Given the description of an element on the screen output the (x, y) to click on. 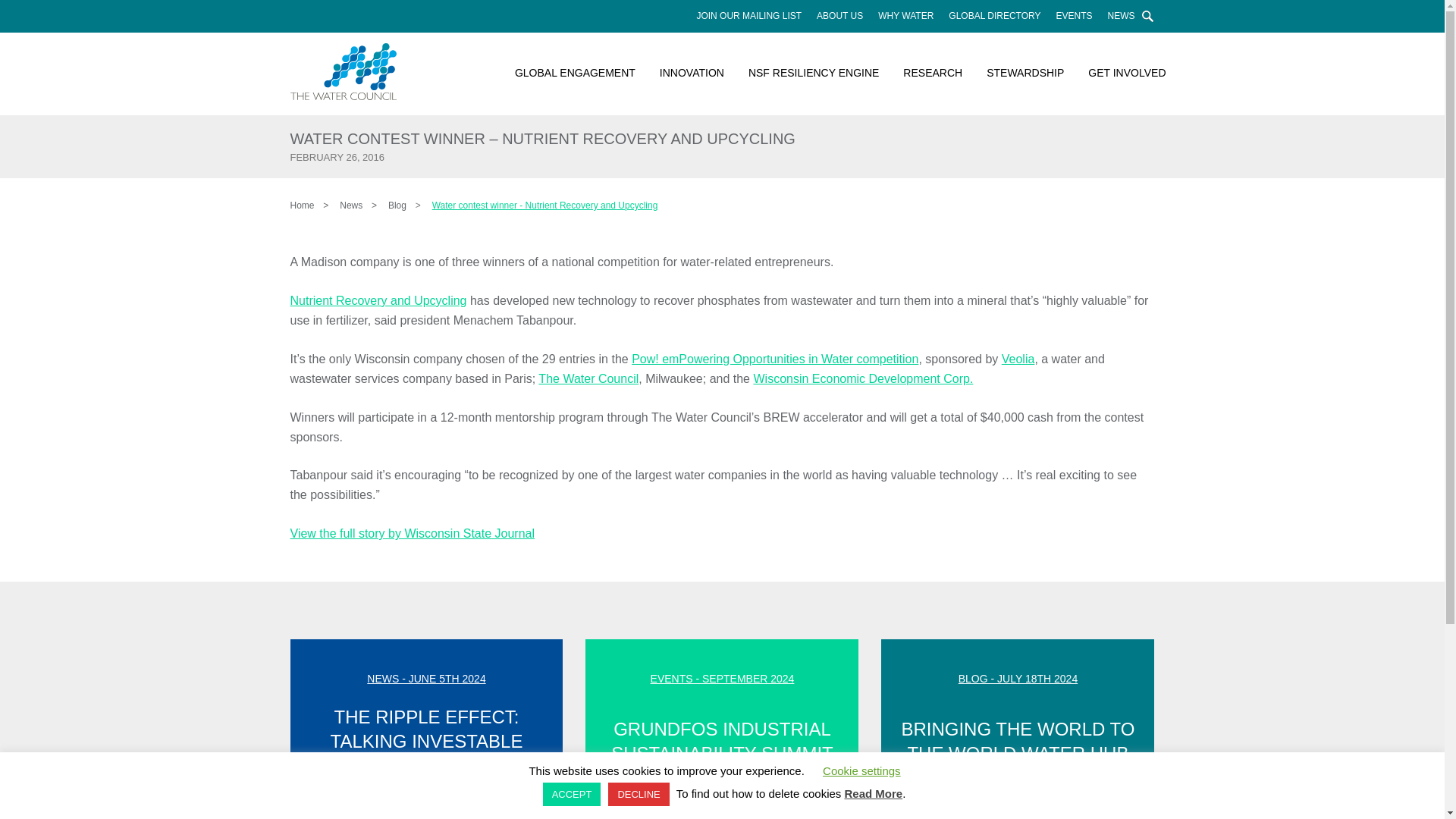
NSF RESILIENCY ENGINE (813, 72)
NEWS (1120, 15)
STEWARDSHIP (1024, 72)
RESEARCH (932, 72)
JOIN OUR MAILING LIST (748, 15)
EVENTS (1073, 15)
INNOVATION (691, 72)
GLOBAL DIRECTORY (994, 15)
WHY WATER (905, 15)
ABOUT US (839, 15)
GLOBAL ENGAGEMENT (574, 72)
GET INVOLVED (1120, 72)
